Given the description of an element on the screen output the (x, y) to click on. 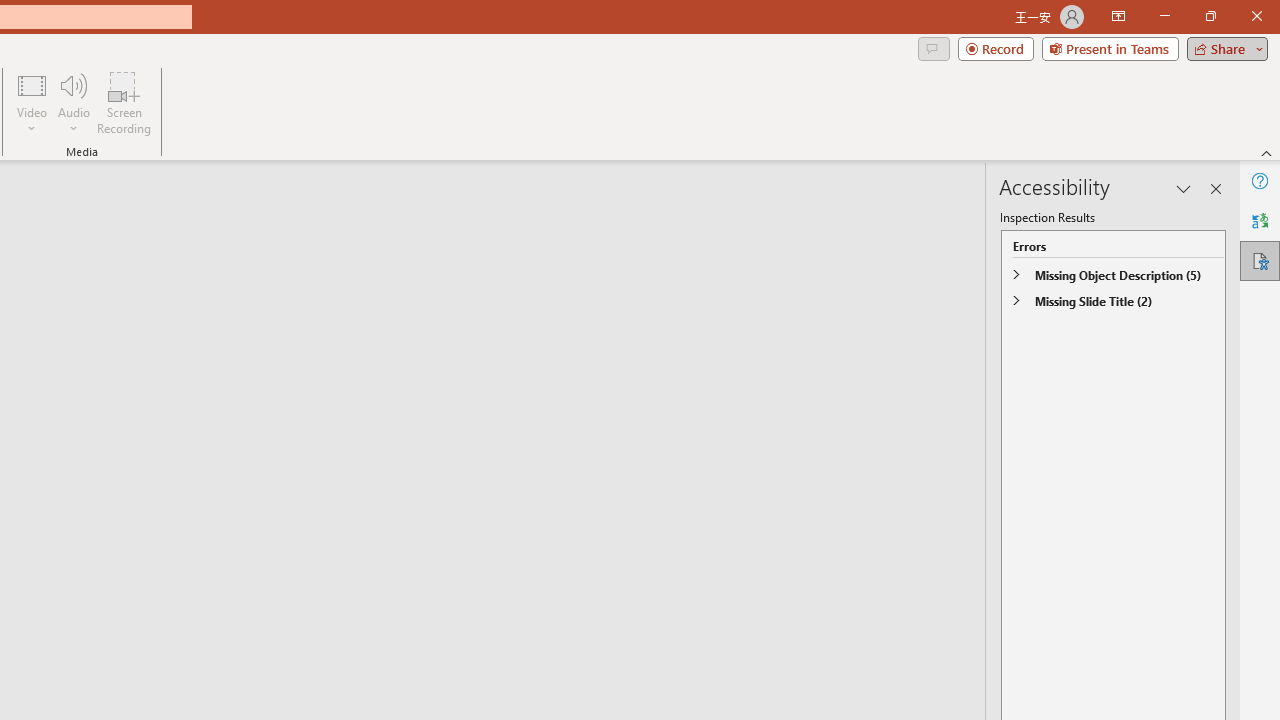
Video (31, 102)
